Given the description of an element on the screen output the (x, y) to click on. 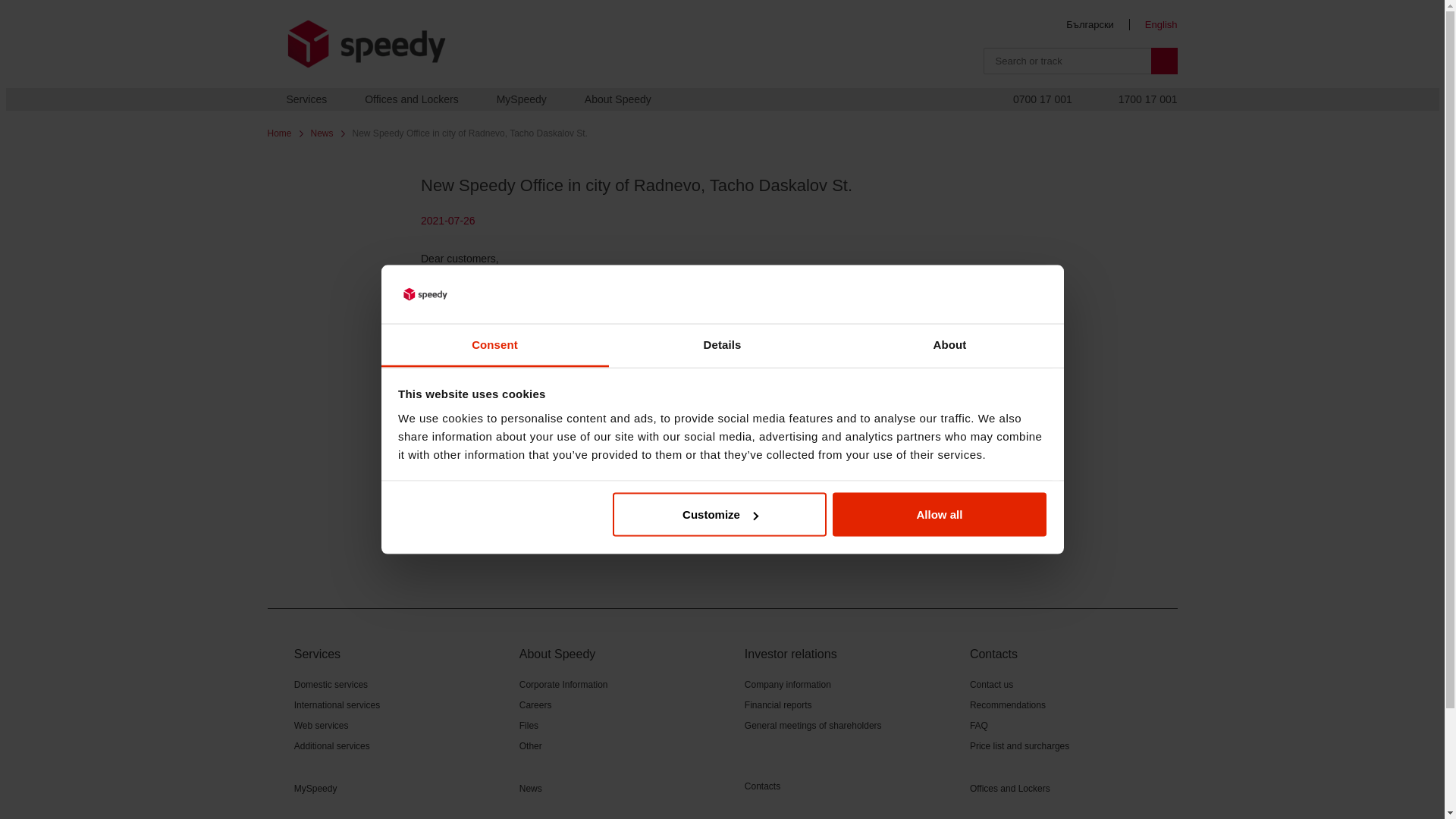
About (948, 344)
Consent (494, 344)
Customize (719, 515)
Allow all (939, 515)
Details (721, 344)
